Given the description of an element on the screen output the (x, y) to click on. 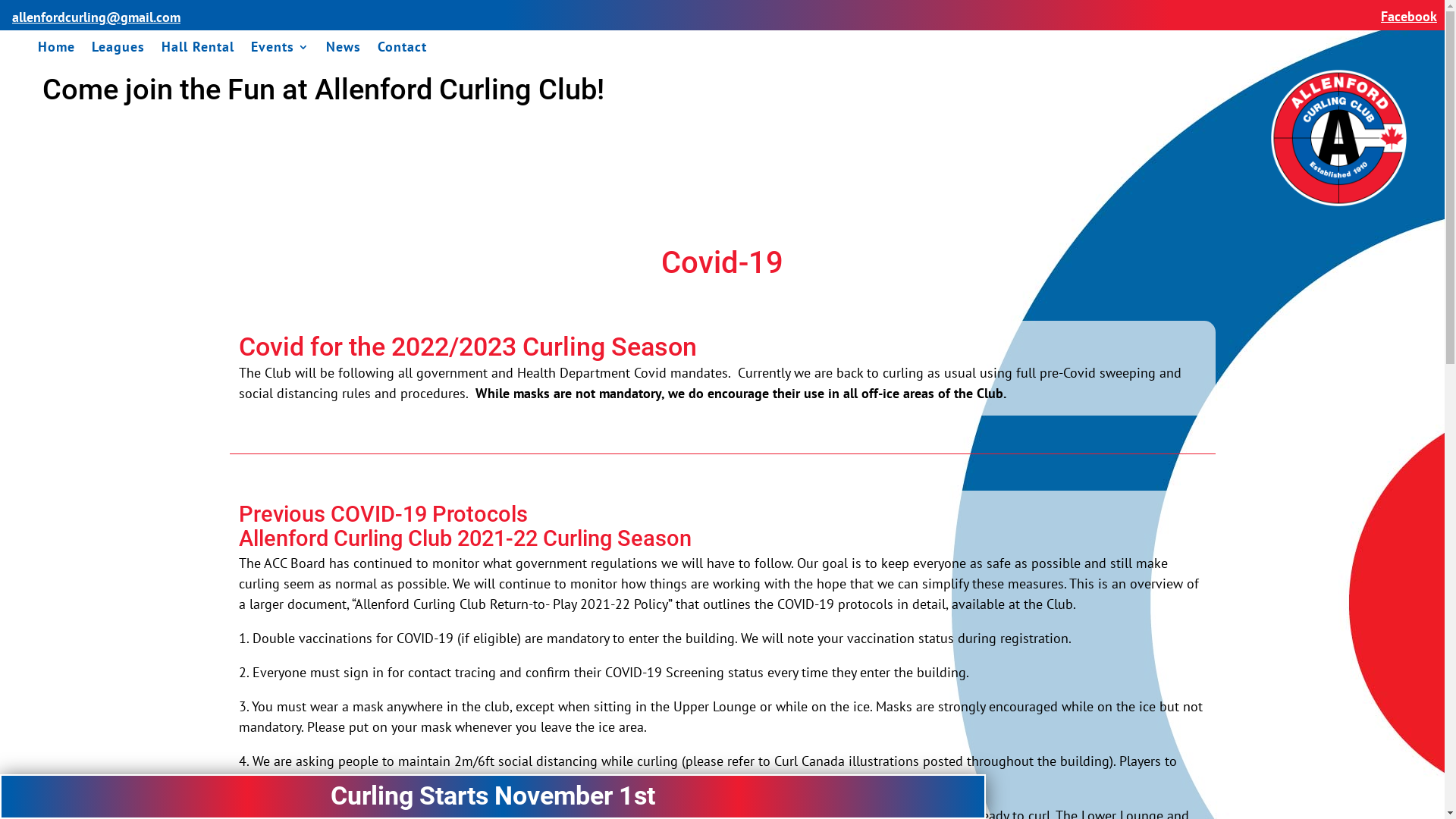
News Element type: text (343, 49)
Allenford Curling Logo Element type: hover (1338, 137)
Leagues Element type: text (117, 49)
Events Element type: text (280, 49)
Home Element type: text (56, 49)
Hall Rental Element type: text (197, 49)
allenfordcurling@gmail.com Element type: text (96, 16)
Contact Element type: text (401, 49)
Facebook Element type: text (1408, 16)
